Given the description of an element on the screen output the (x, y) to click on. 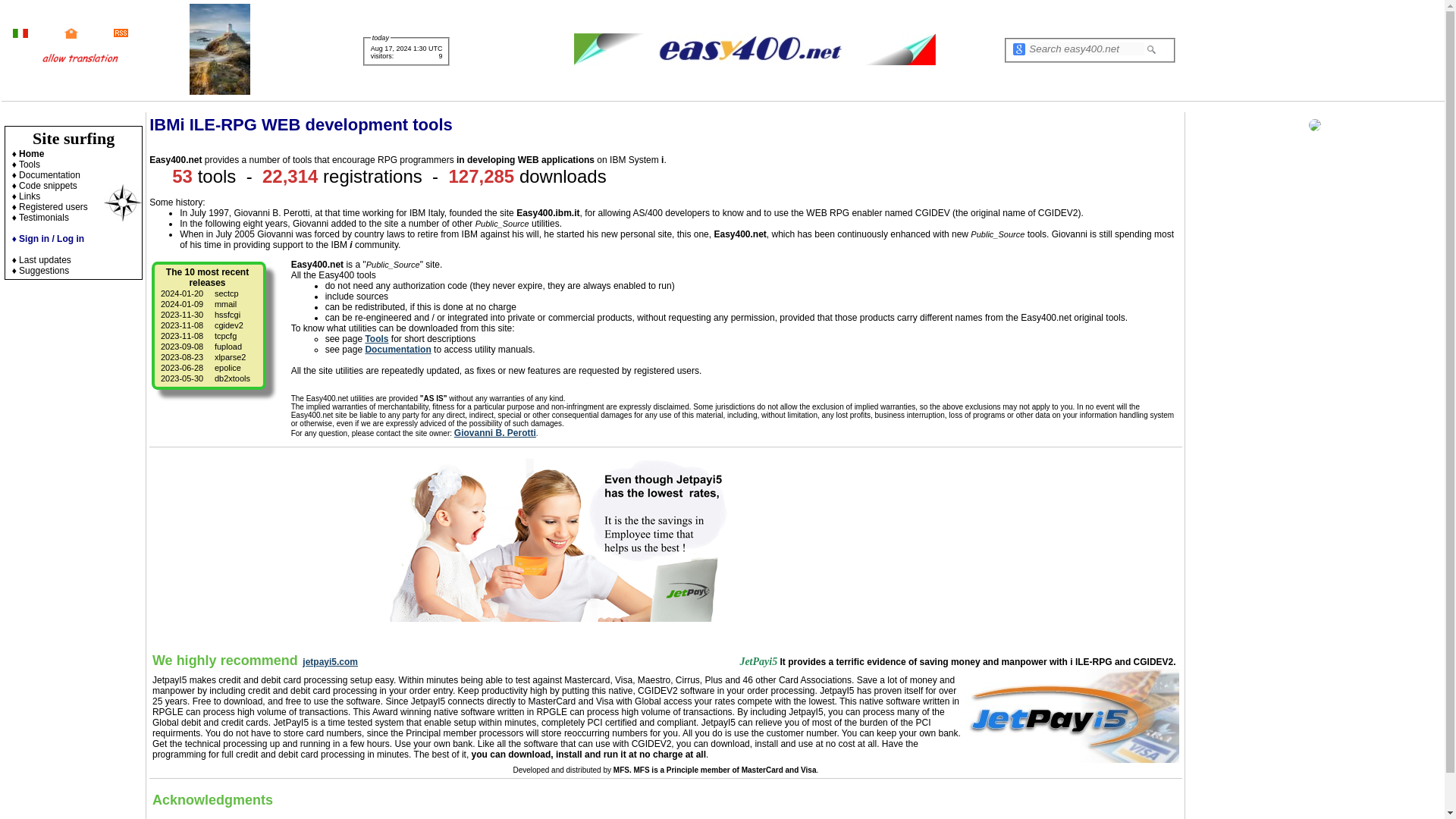
RSS feed (120, 34)
search with google (1019, 49)
Giovanni B. Perotti (494, 432)
jetpayi5.com (330, 661)
2024-01-09 (181, 303)
db2xtools (232, 378)
search (1151, 49)
